Given the description of an element on the screen output the (x, y) to click on. 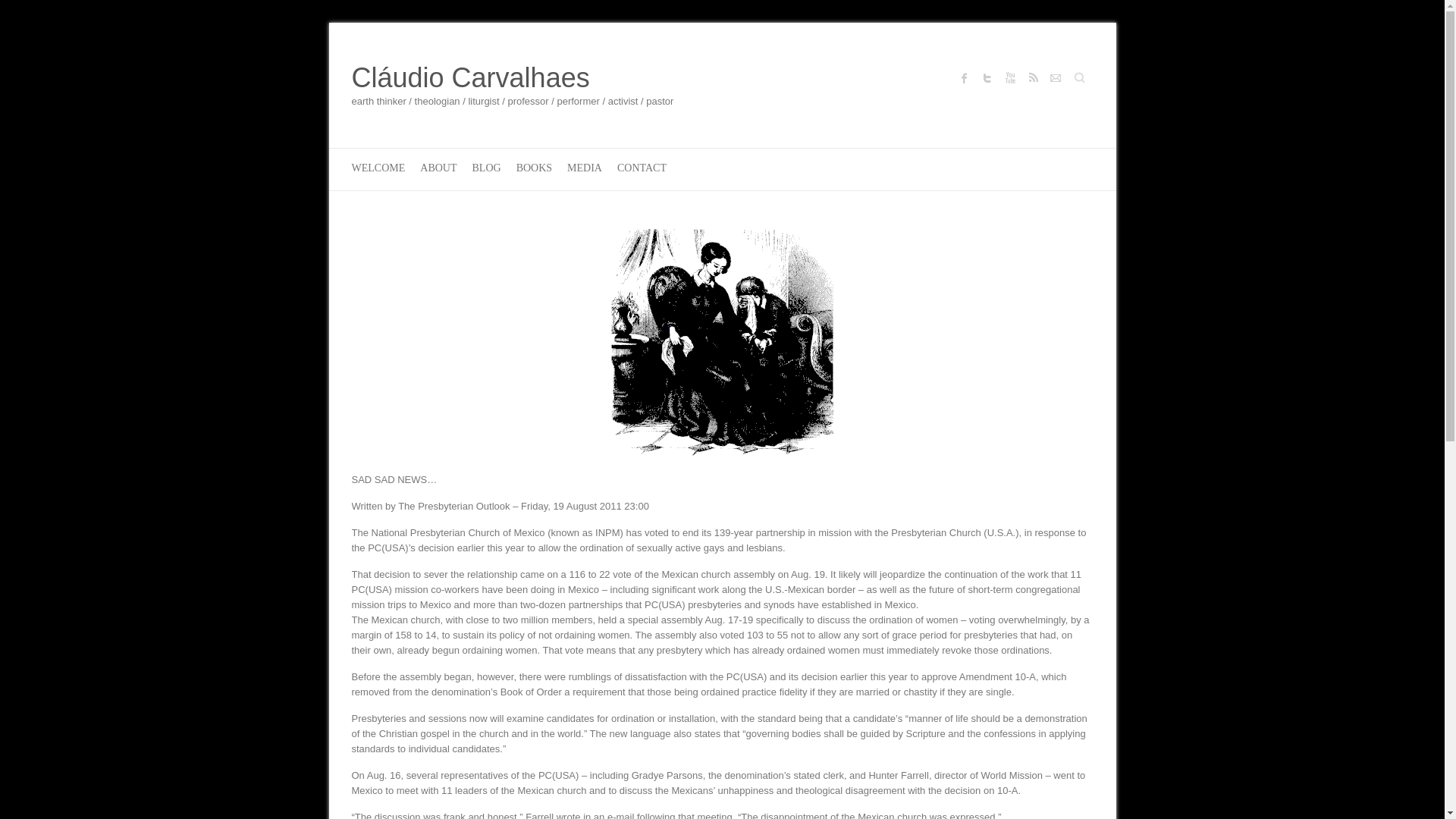
CONTACT (641, 169)
sad news (722, 342)
WELCOME (379, 169)
